Given the description of an element on the screen output the (x, y) to click on. 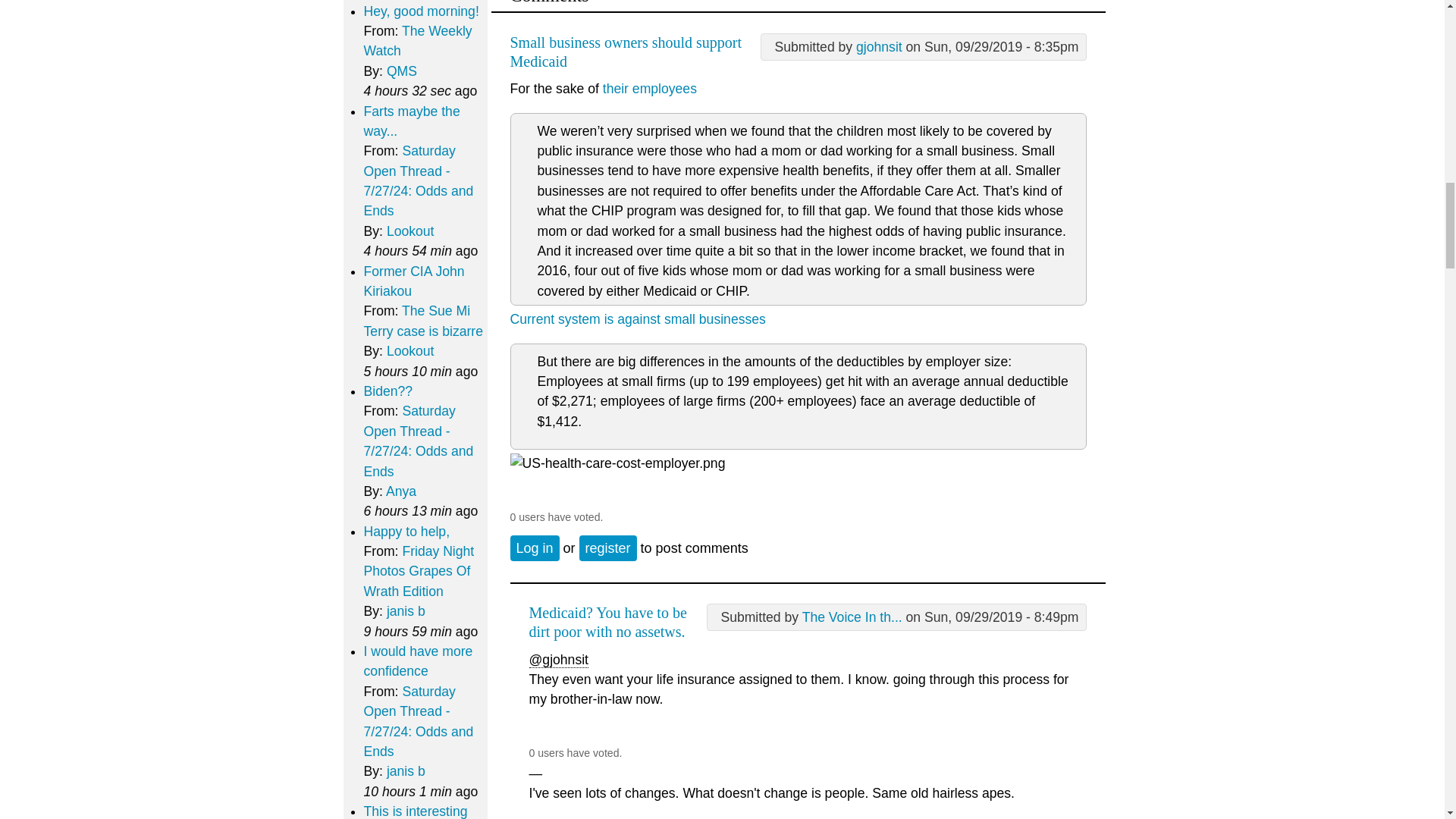
Log in (534, 548)
Medicaid? You have to be dirt poor with no assetws. (608, 621)
their employees (649, 88)
Current system is against small businesses (637, 319)
Small business owners should support Medicaid (625, 51)
The Voice In th... (852, 616)
View user profile. (879, 46)
View user profile. (852, 616)
register (608, 548)
gjohnsit (879, 46)
